Given the description of an element on the screen output the (x, y) to click on. 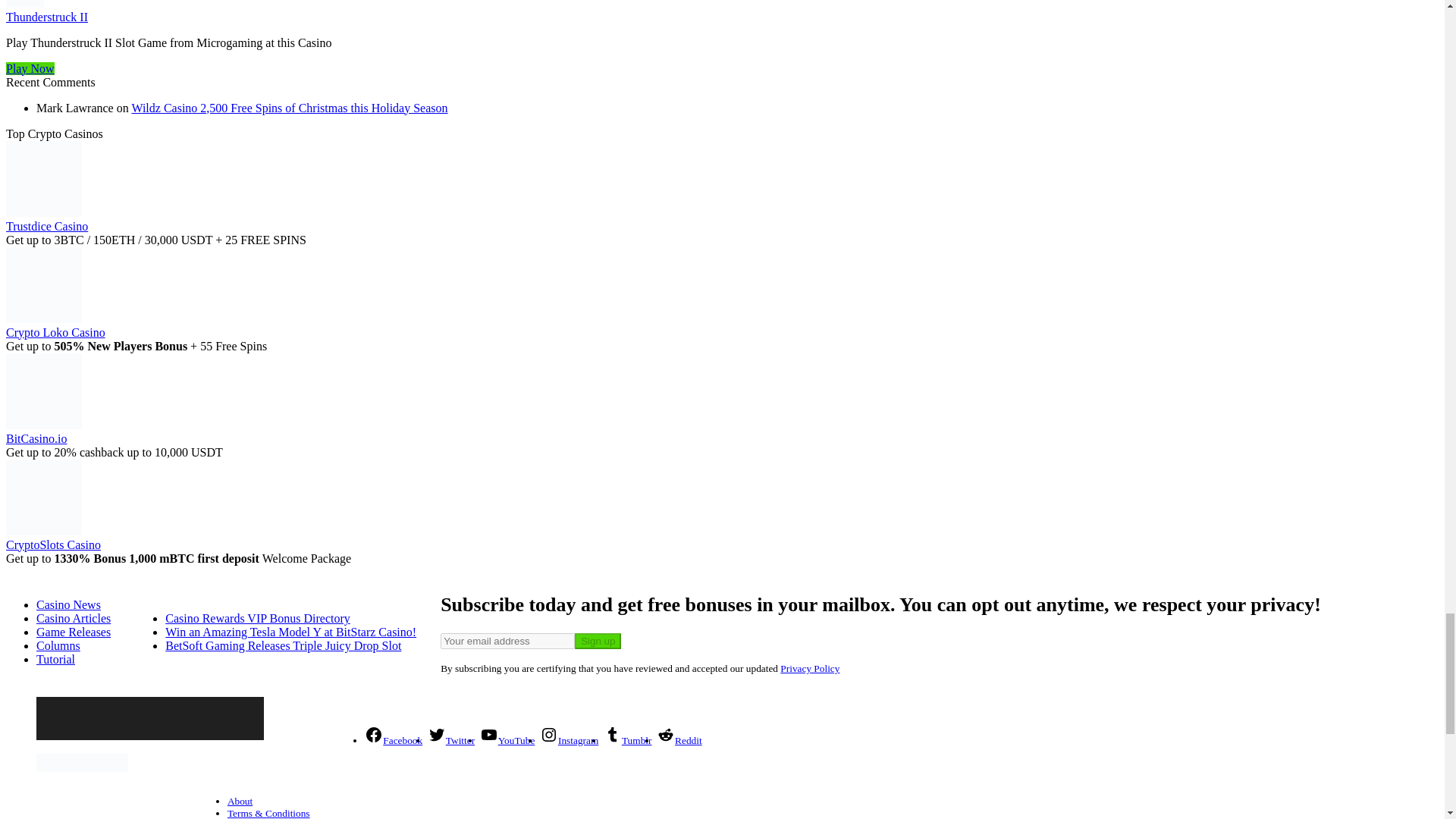
Sign up (598, 641)
